Given the description of an element on the screen output the (x, y) to click on. 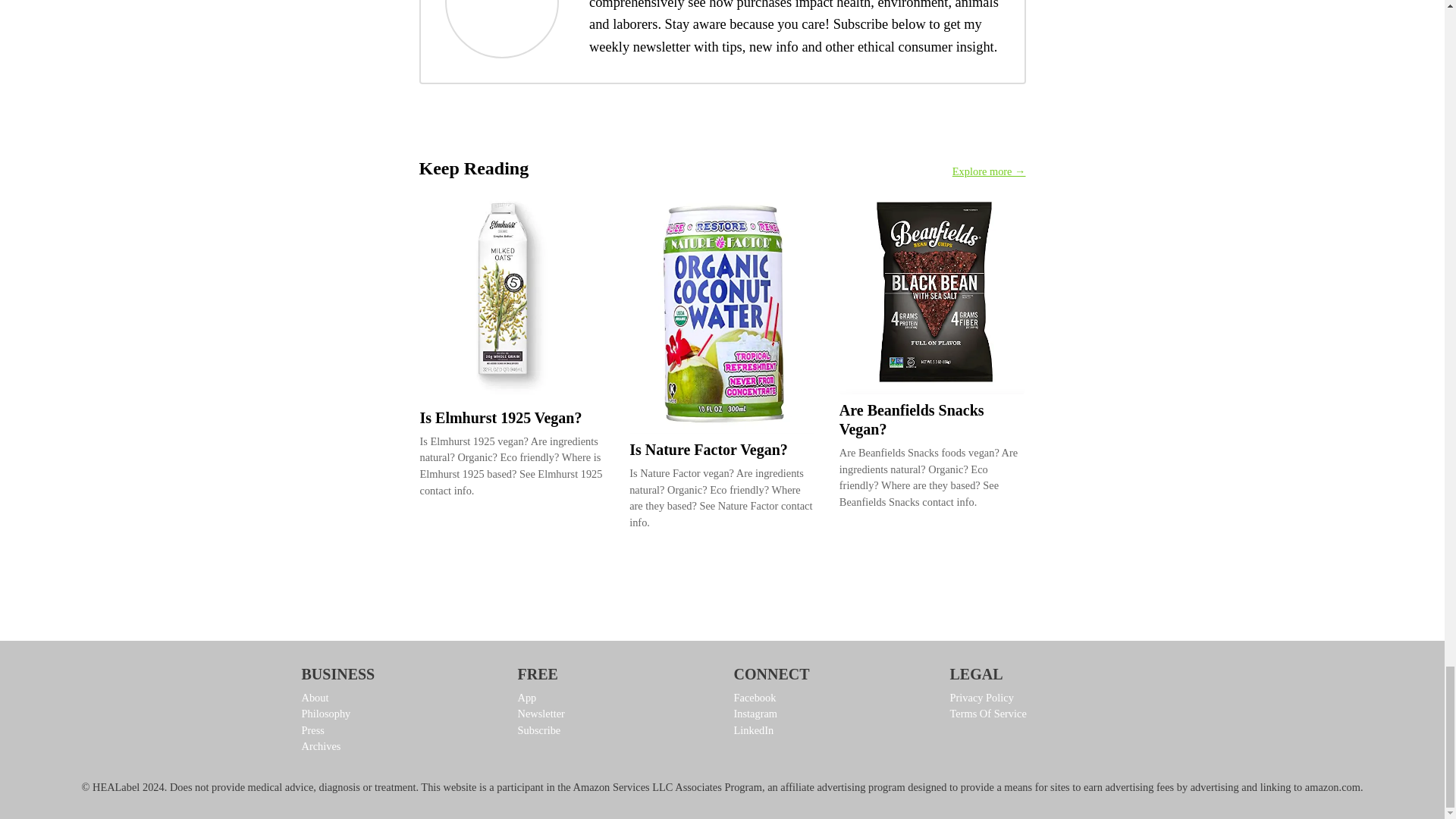
Privacy Policy (1045, 698)
Newsletter (613, 713)
App (613, 698)
Terms Of Service (1045, 713)
Subscribe (613, 730)
About (398, 698)
Archives (398, 746)
Philosophy (398, 713)
Facebook (830, 698)
LinkedIn (830, 730)
Instagram (830, 713)
Press (398, 730)
